Given the description of an element on the screen output the (x, y) to click on. 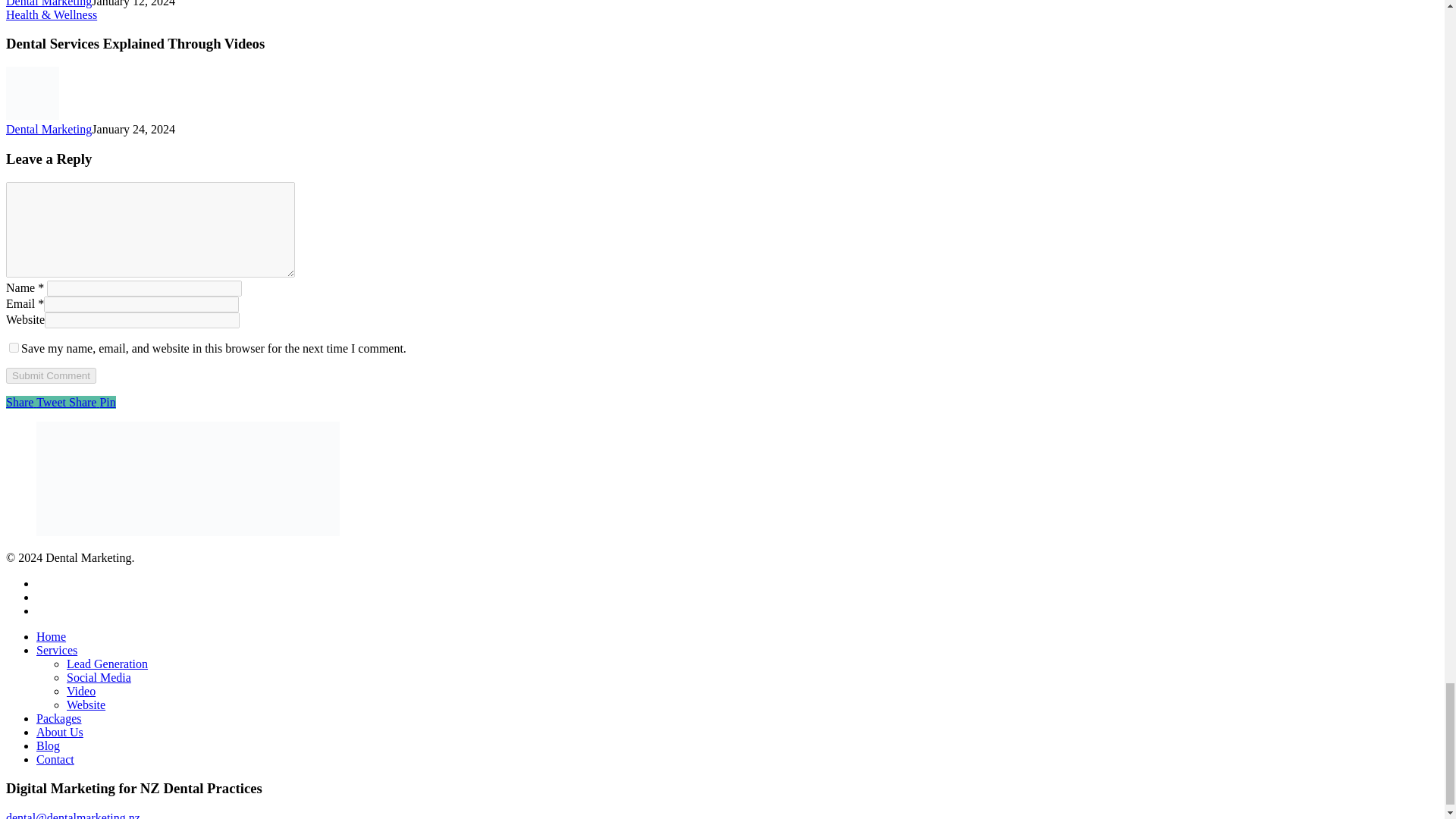
Pin (107, 401)
Tweet this (52, 401)
Dental Marketing (48, 3)
Tweet (52, 401)
Blog (47, 745)
Home (50, 635)
Lead Generation (107, 663)
Pin this (107, 401)
Website (85, 704)
Share this (83, 401)
Submit Comment (50, 375)
Services (56, 649)
About Us (59, 731)
Contact (55, 758)
Submit Comment (50, 375)
